Given the description of an element on the screen output the (x, y) to click on. 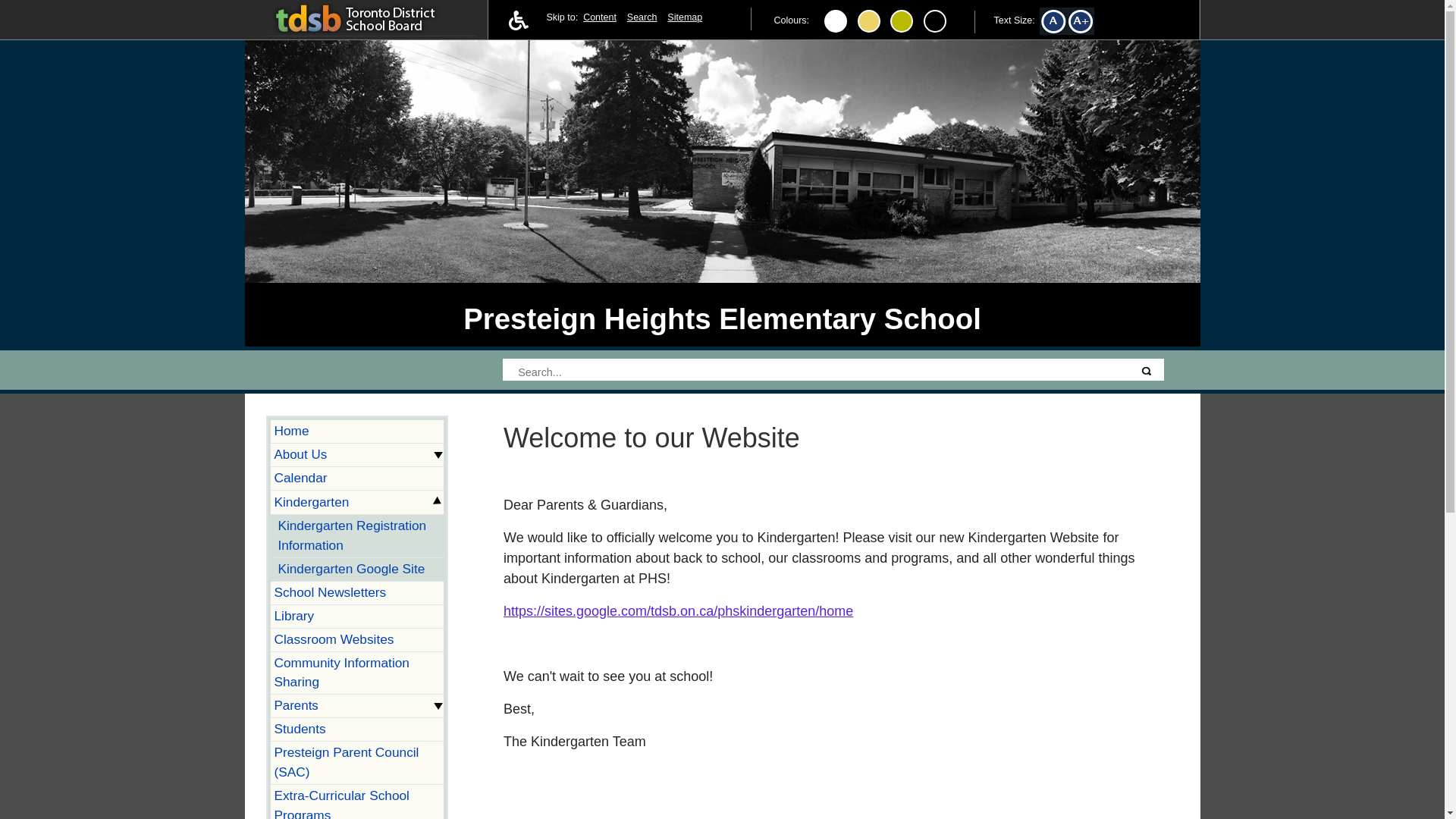
Home (357, 431)
Community Information Sharing (357, 673)
Default Colour Scheme (835, 20)
Library (357, 616)
Skip to site map (683, 17)
High Contrast Colour Scheme (868, 20)
Students (357, 730)
TDSB Logo (371, 17)
Presteign Heights Elementary School (722, 318)
Search (1146, 370)
Skip to search box (642, 17)
Calendar (357, 478)
Parents (357, 706)
Kindergarten Registration Information (359, 536)
